Given the description of an element on the screen output the (x, y) to click on. 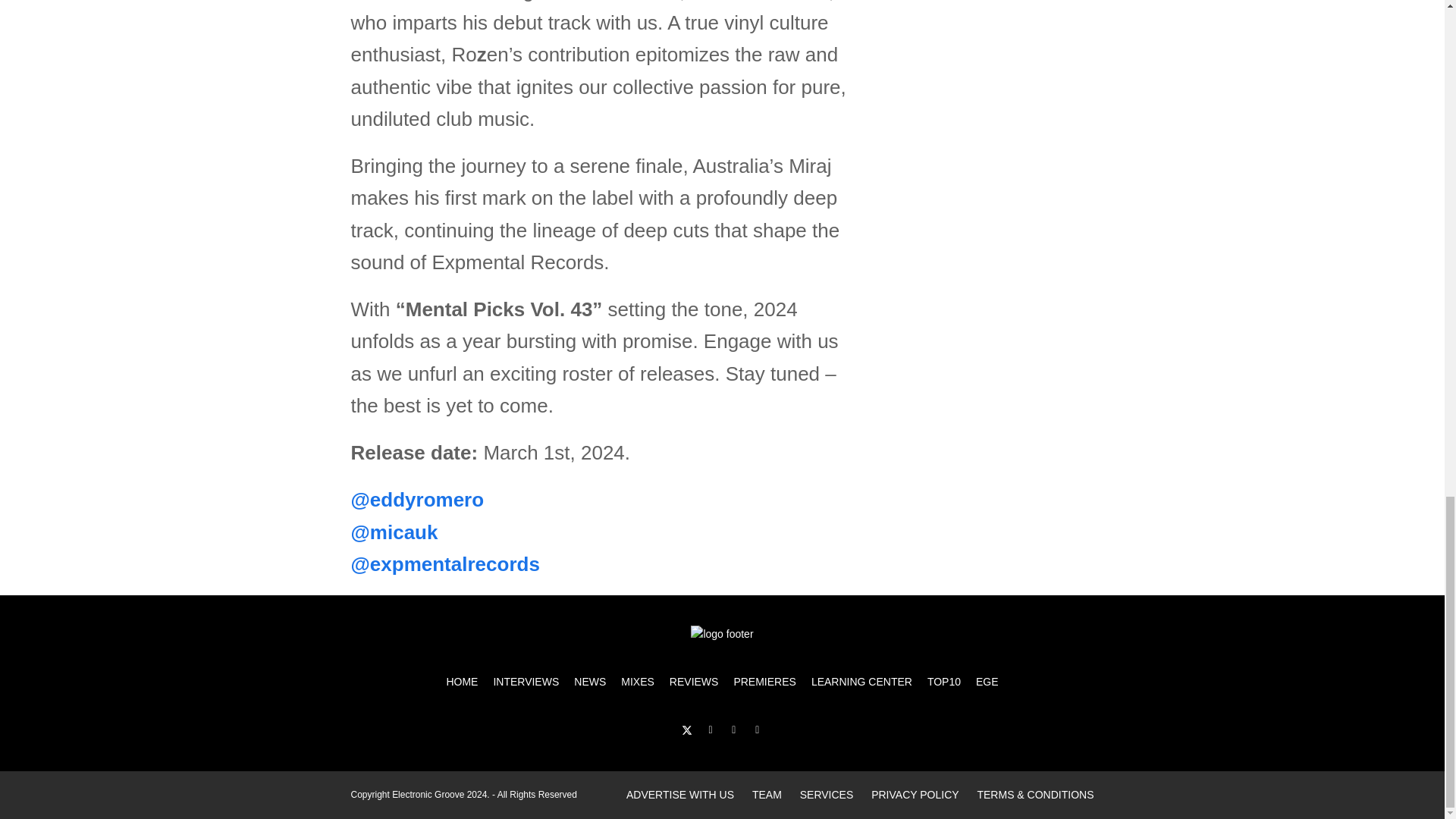
NEWS (589, 681)
REVIEWS (694, 681)
INTERVIEWS (525, 681)
HOME (461, 681)
Facebook (710, 731)
Twitter (687, 731)
Instagram (733, 731)
PREMIERES (764, 681)
Spotify (757, 731)
MIXES (637, 681)
